Given the description of an element on the screen output the (x, y) to click on. 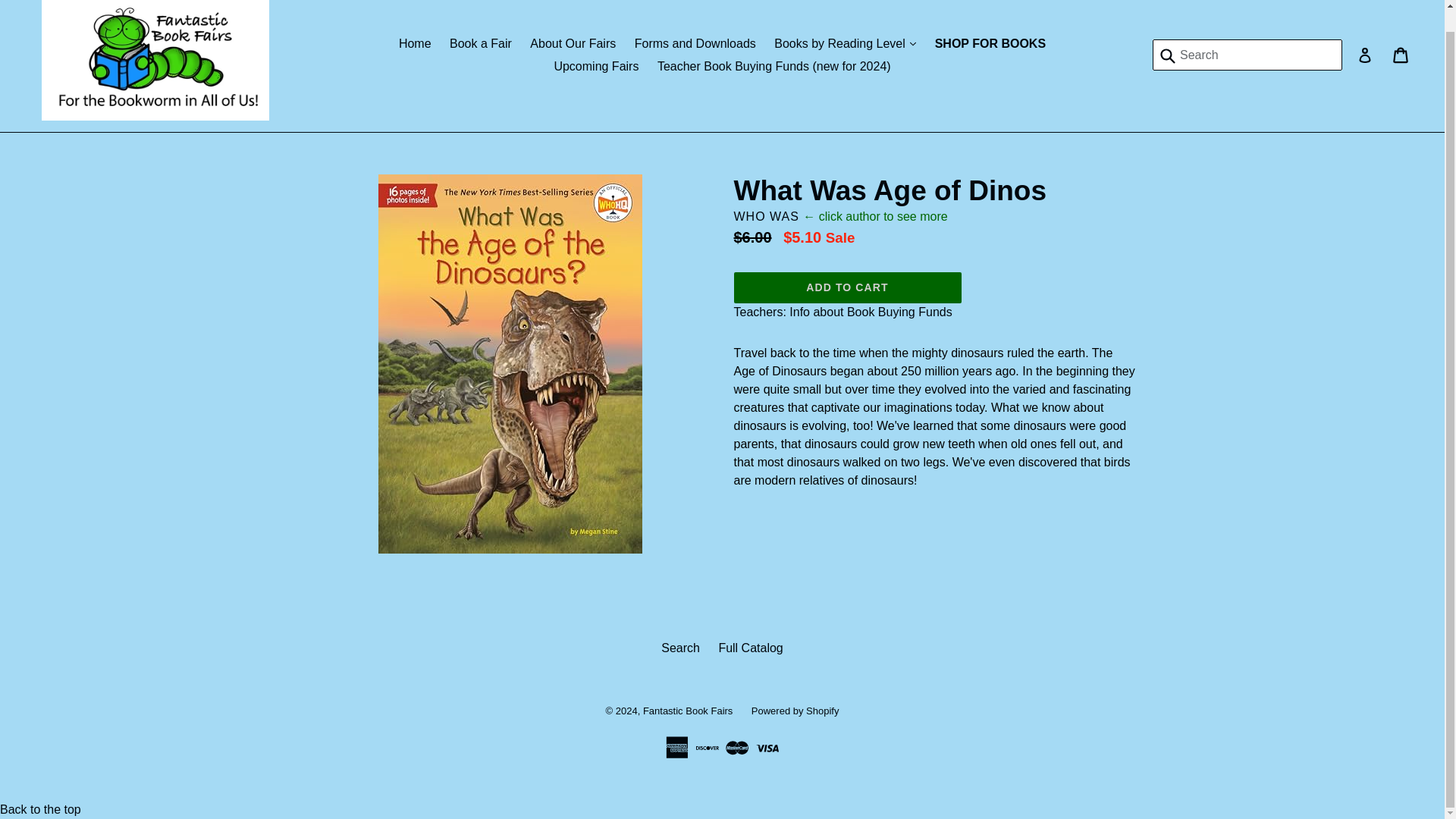
Forms and Downloads (694, 43)
About Our Fairs (572, 43)
Back to the top (40, 809)
Home (415, 43)
Who Was (766, 215)
SHOP FOR BOOKS (989, 43)
Book a Fair (480, 43)
Upcoming Fairs (596, 66)
